Given the description of an element on the screen output the (x, y) to click on. 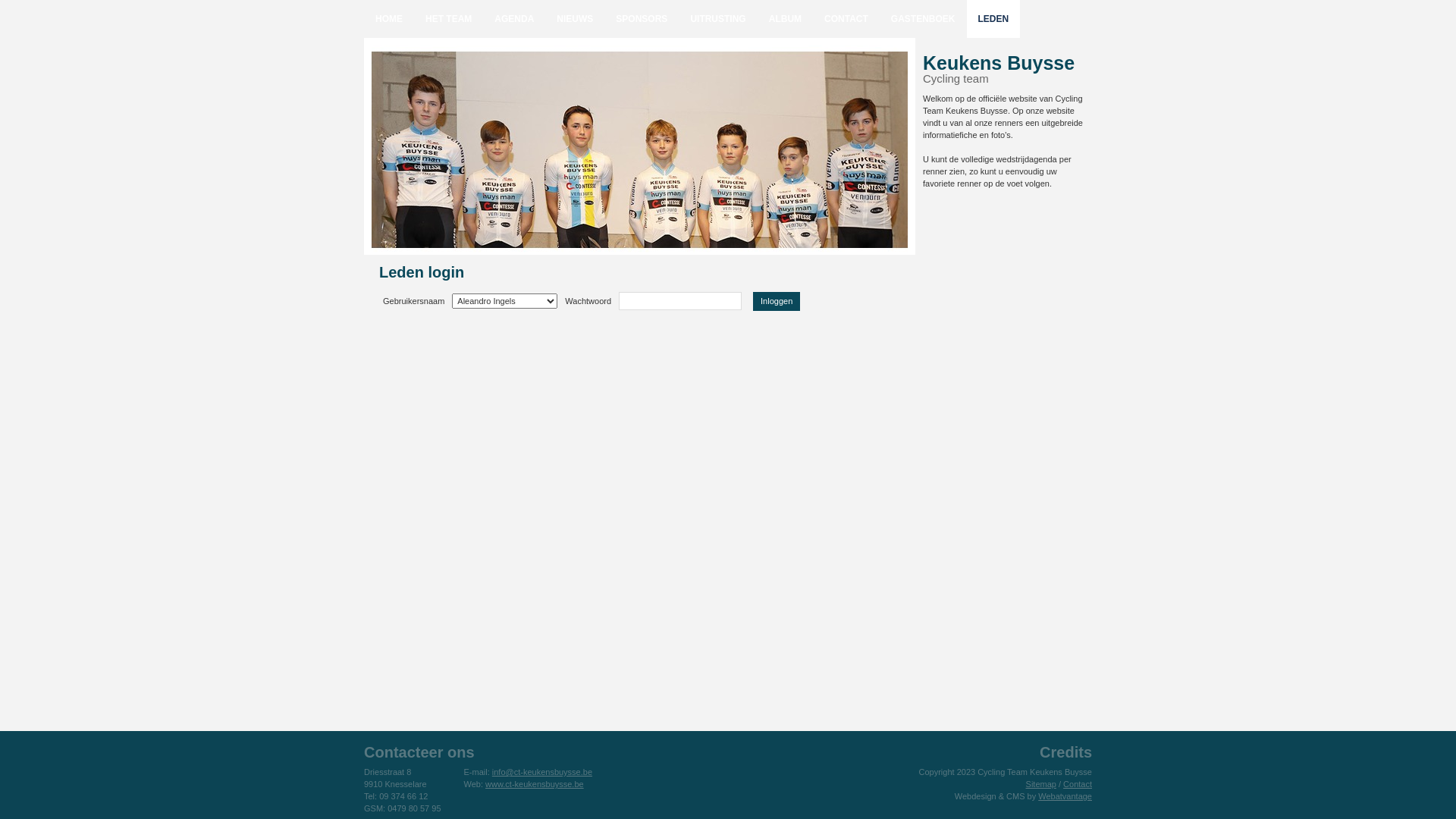
NIEUWS Element type: text (574, 18)
HET TEAM Element type: text (448, 18)
info@ct-keukensbuysse.be Element type: text (542, 771)
Webatvantage Element type: text (1065, 795)
AGENDA Element type: text (514, 18)
www.ct-keukensbuysse.be Element type: text (534, 783)
SPONSORS Element type: text (641, 18)
CONTACT Element type: text (845, 18)
Sitemap Element type: text (1041, 783)
Inloggen Element type: text (776, 300)
HOME Element type: text (389, 18)
Contact Element type: text (1077, 783)
GASTENBOEK Element type: text (922, 18)
ALBUM Element type: text (784, 18)
UITRUSTING Element type: text (717, 18)
LEDEN Element type: text (993, 18)
